Given the description of an element on the screen output the (x, y) to click on. 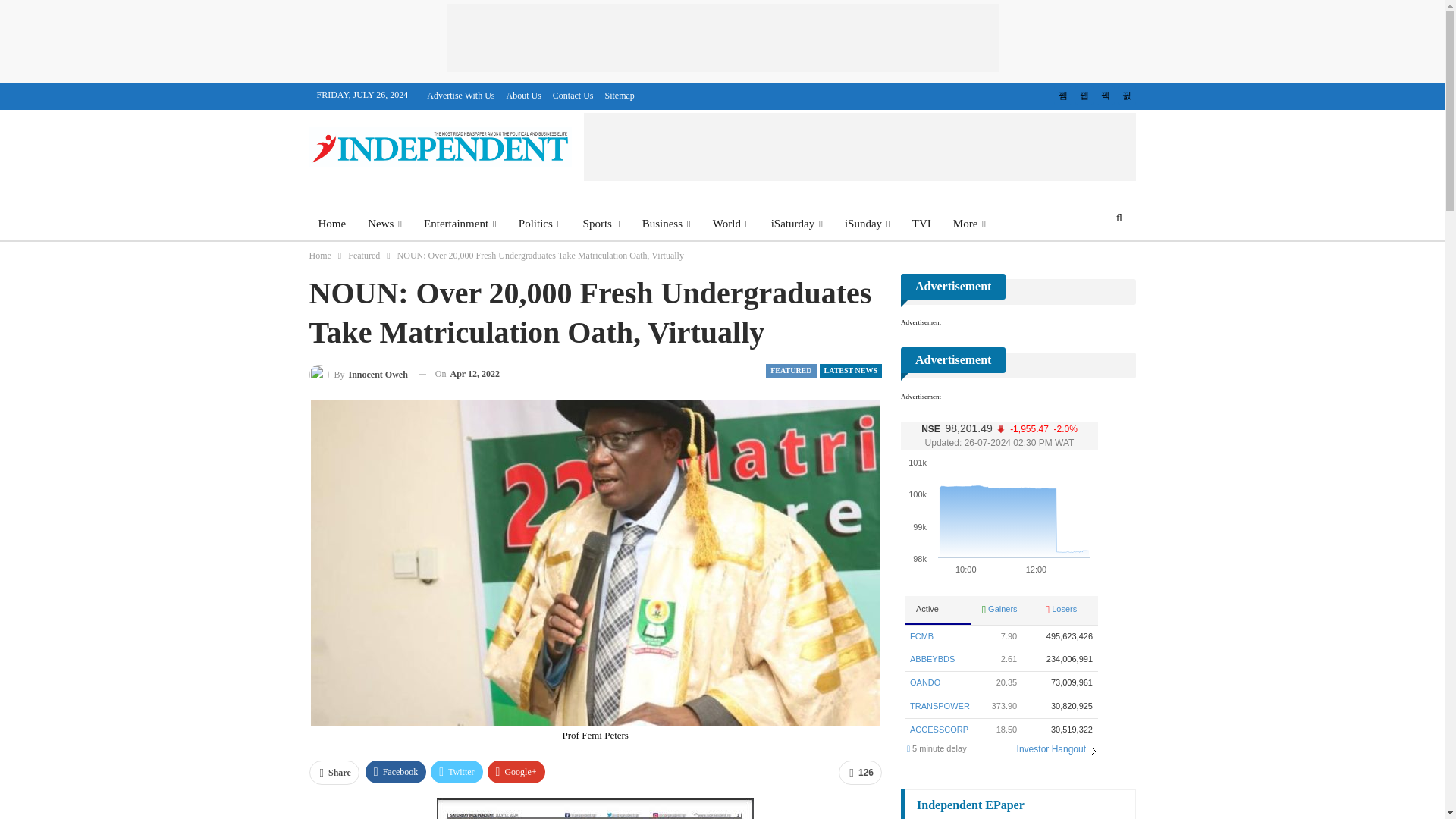
Advertisement (721, 38)
News (384, 223)
Sitemap (619, 95)
About Us (523, 95)
Politics (539, 223)
Home (331, 223)
Advertise With Us (460, 95)
Advertisement (859, 146)
Contact Us (573, 95)
Entertainment (459, 223)
